Given the description of an element on the screen output the (x, y) to click on. 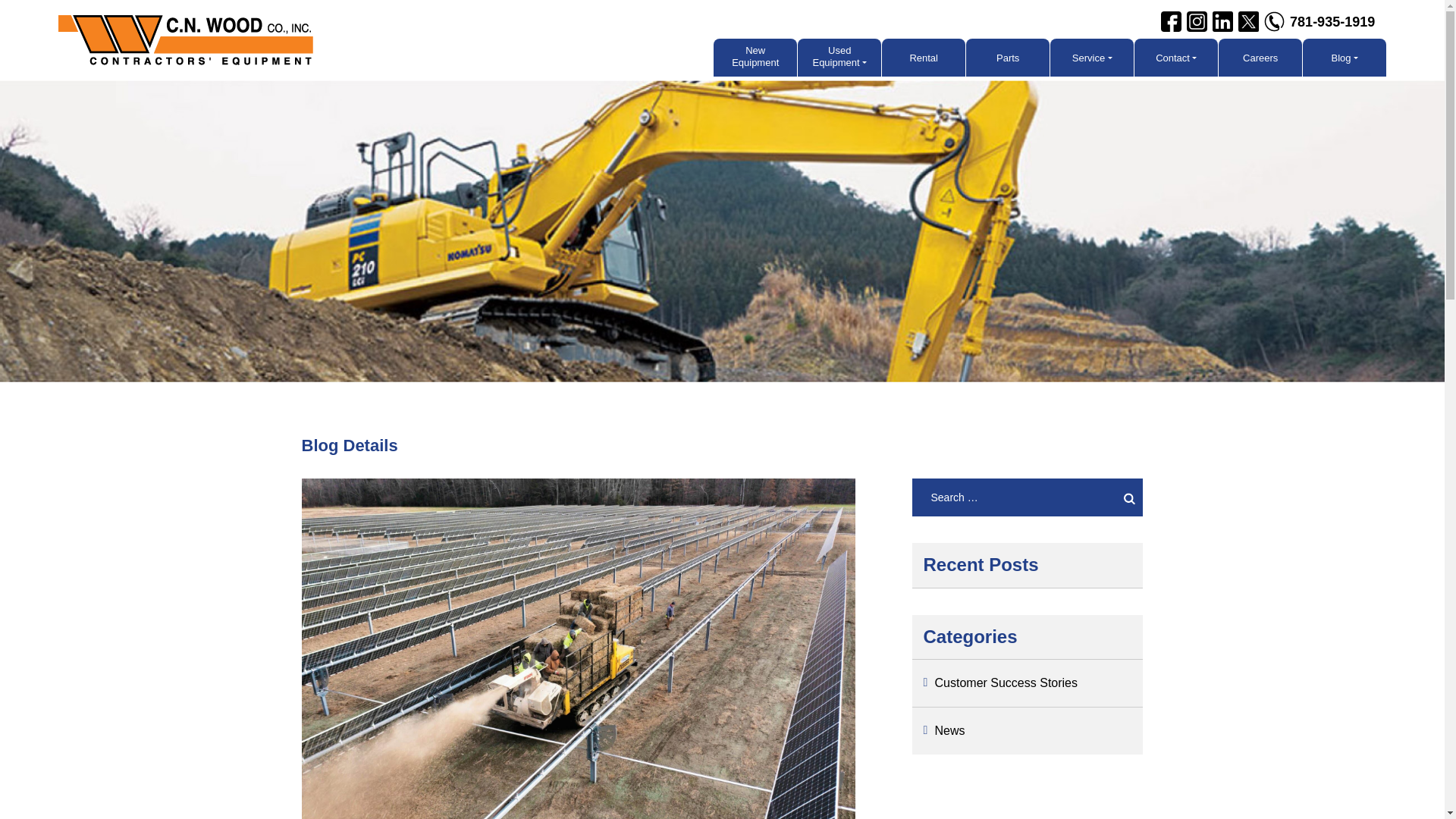
Careers (1259, 57)
Service (1091, 57)
Parts (1007, 57)
Rental (923, 57)
Blog (1344, 57)
Contact (1175, 57)
New Equipment (754, 57)
Used Equipment (838, 57)
